Given the description of an element on the screen output the (x, y) to click on. 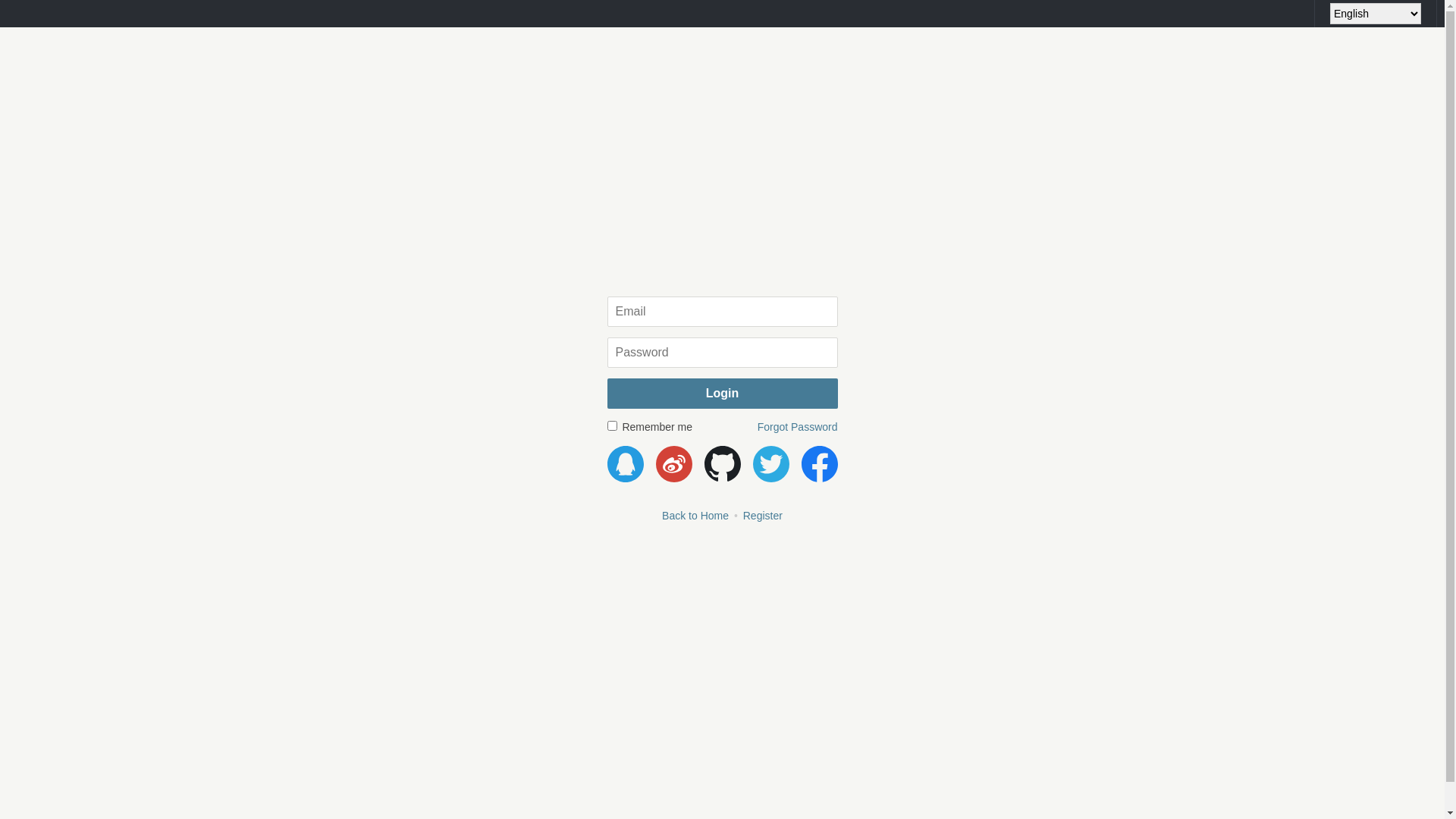
Back to Home Element type: text (695, 515)
Register Element type: text (762, 515)
Forgot Password Element type: text (797, 426)
Login Element type: text (721, 393)
